Given the description of an element on the screen output the (x, y) to click on. 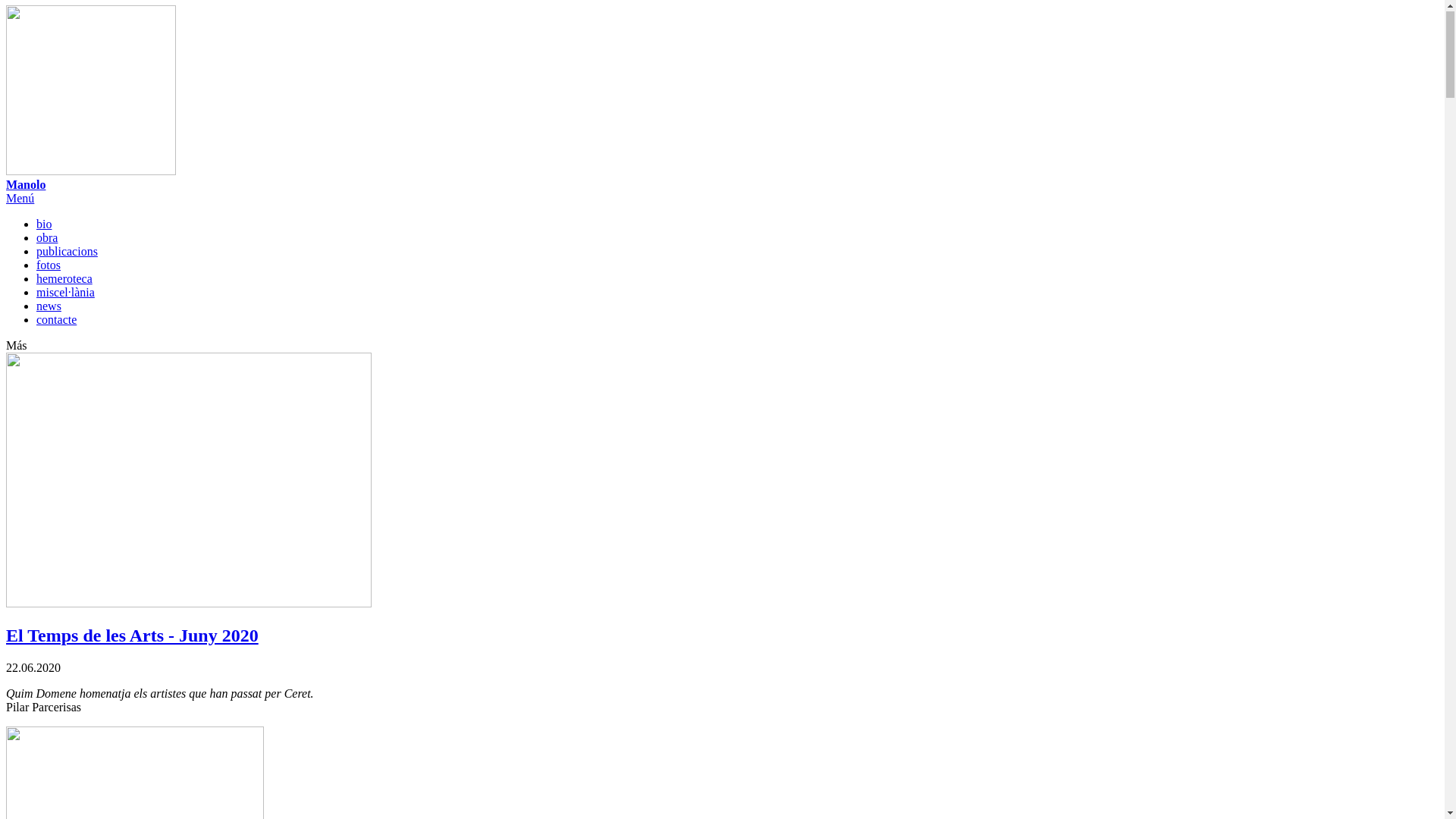
fotos Element type: text (48, 265)
news Element type: text (48, 306)
contacte Element type: text (56, 319)
Manolo Element type: text (722, 99)
El Temps de les Arts - Juny 2020 Element type: text (722, 636)
hemeroteca Element type: text (64, 279)
publicacions Element type: text (66, 251)
bio Element type: text (43, 224)
obra Element type: text (46, 238)
